Given the description of an element on the screen output the (x, y) to click on. 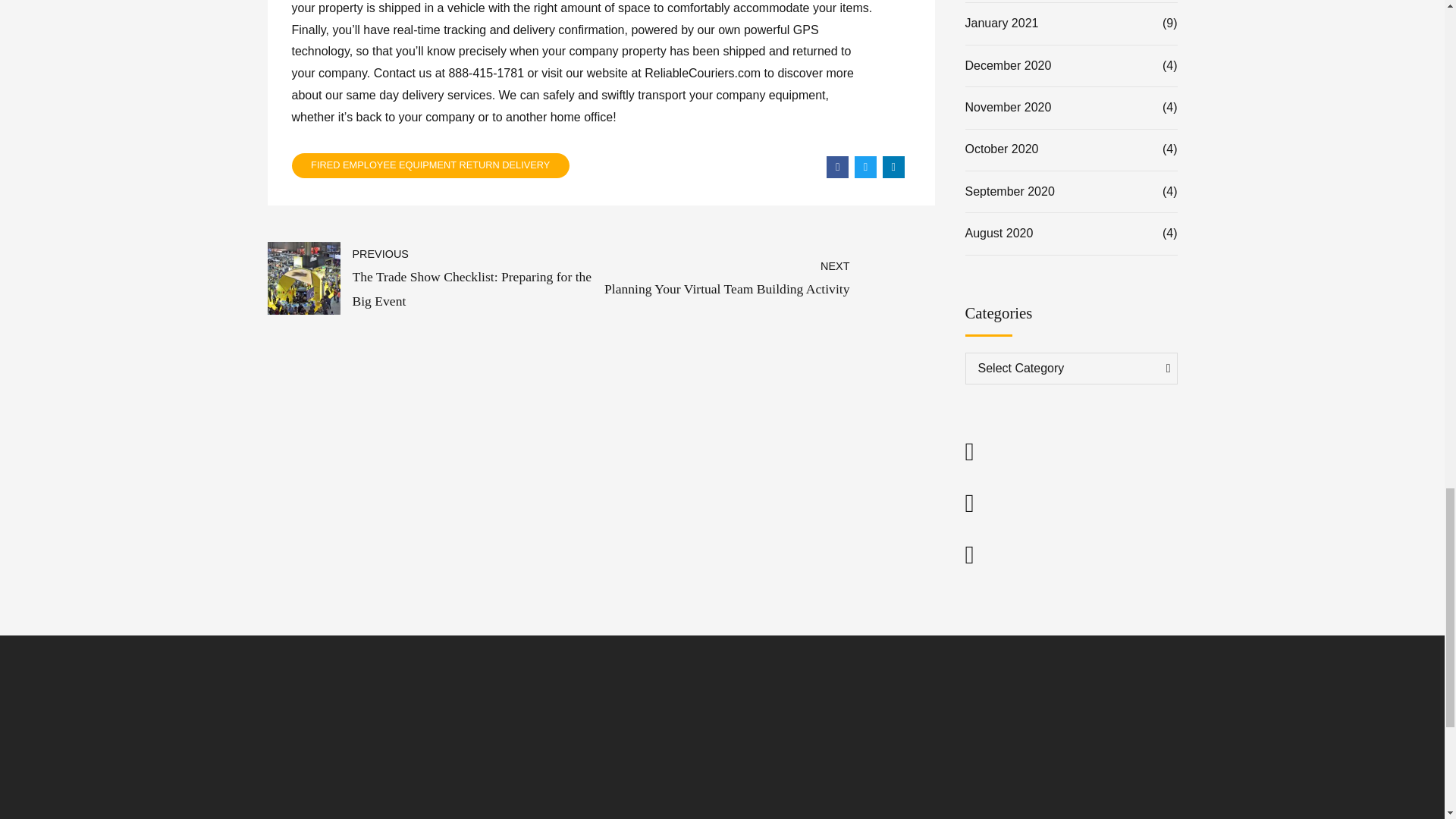
Share on Linkedin (893, 167)
Share on Facebook (837, 167)
Share on Twitter (865, 167)
